Given the description of an element on the screen output the (x, y) to click on. 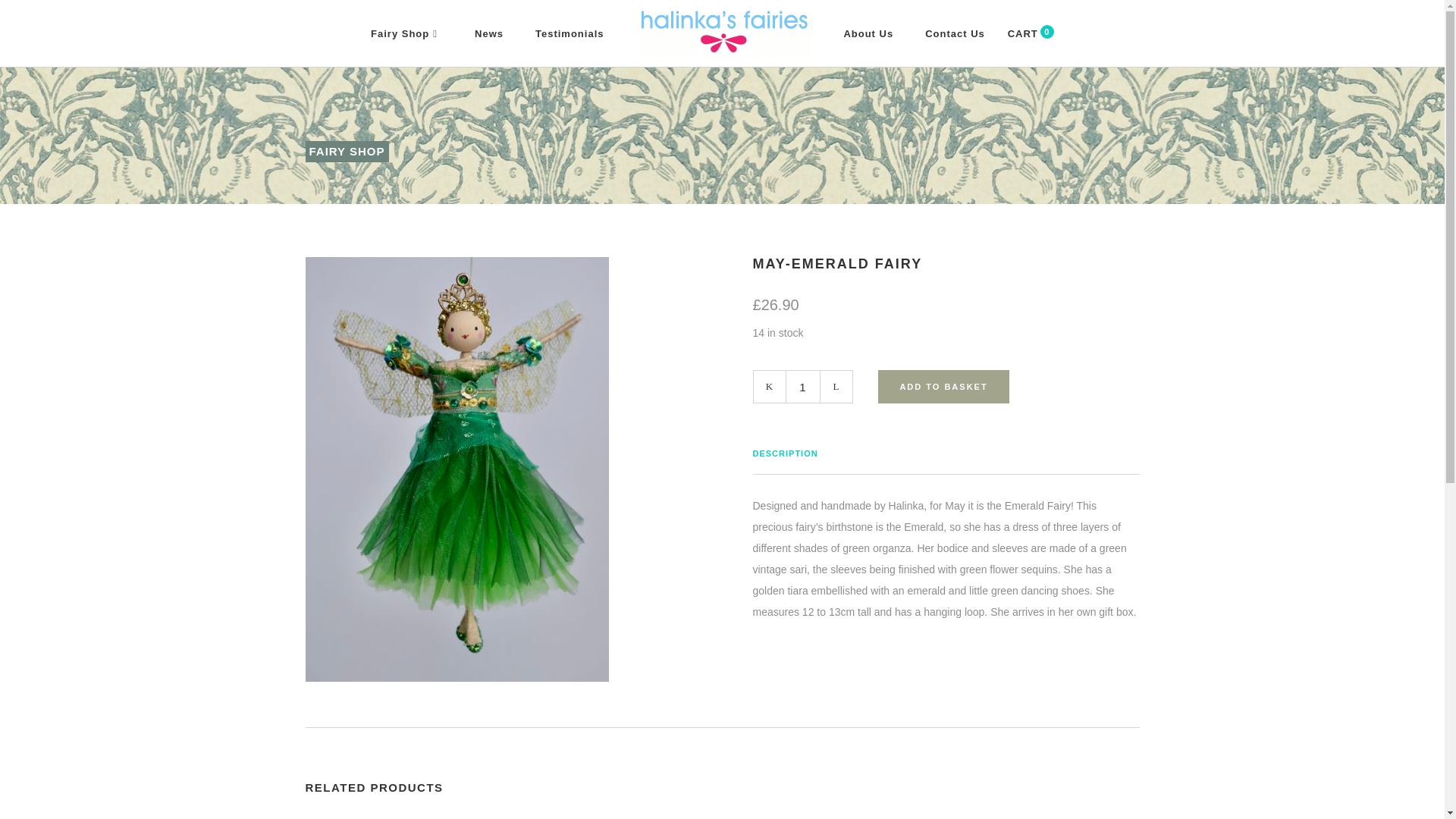
Qty (802, 386)
Testimonials (569, 33)
News (488, 33)
About Us (867, 33)
Fairy Shop (406, 33)
Contact Us (954, 33)
1 (1028, 35)
